Given the description of an element on the screen output the (x, y) to click on. 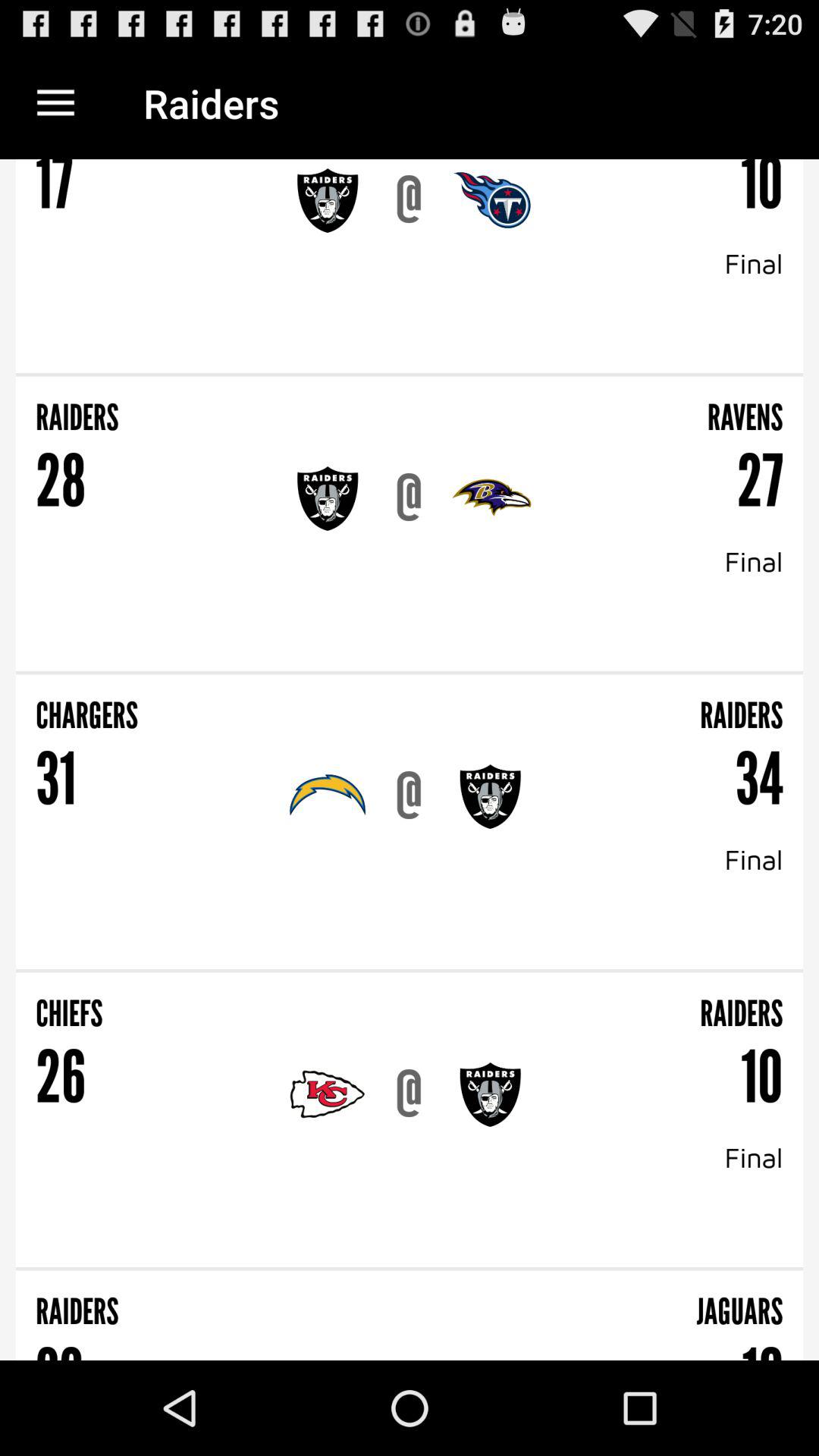
press the icon next to raiders app (55, 103)
